Given the description of an element on the screen output the (x, y) to click on. 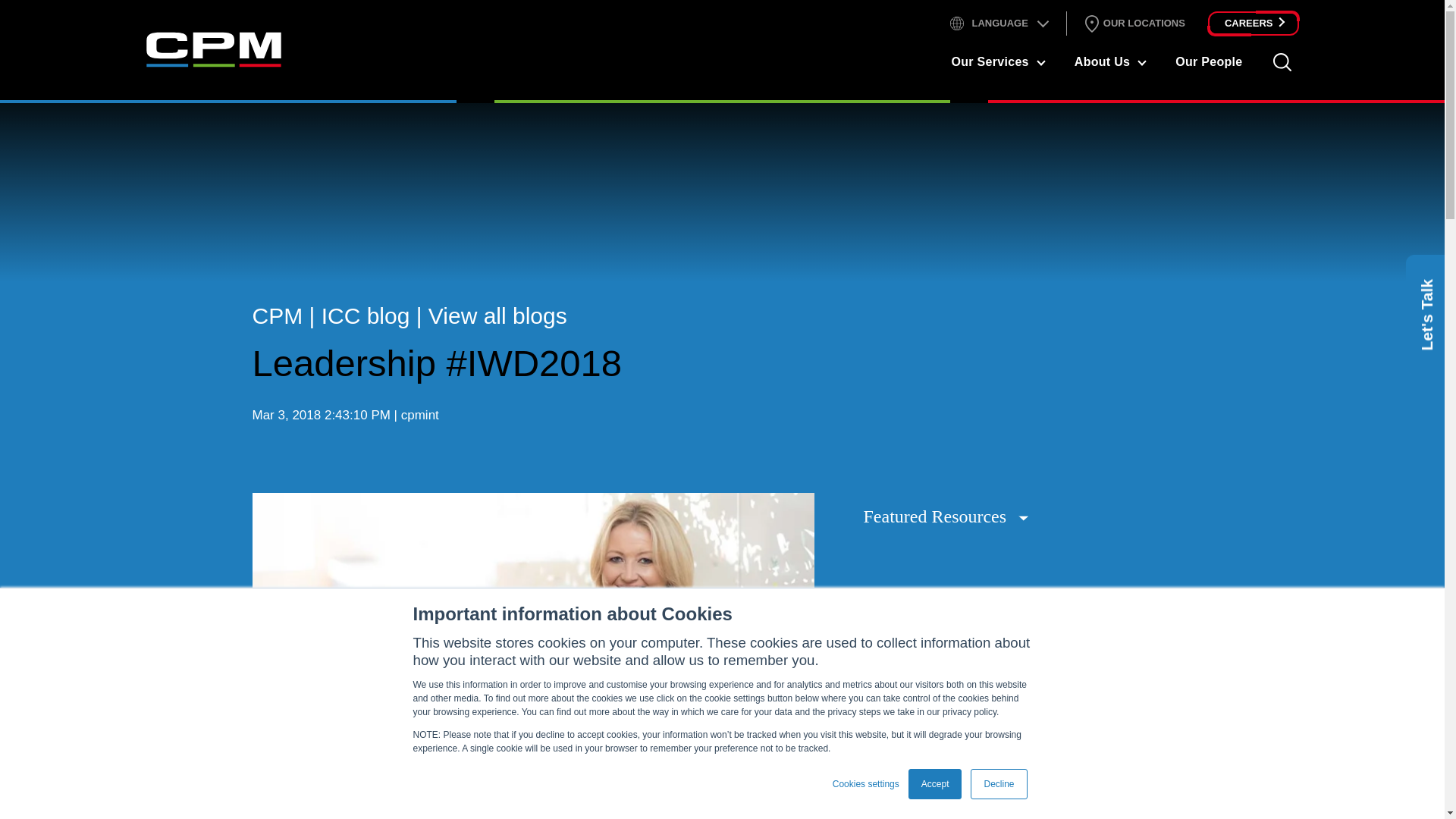
Cookies settings (865, 784)
CPM Logo (213, 49)
OUR LOCATIONS (1133, 23)
Our Services (990, 61)
Decline (998, 784)
Our People (1207, 61)
About Us (1101, 61)
CAREERS (1253, 23)
Accept (935, 784)
